Given the description of an element on the screen output the (x, y) to click on. 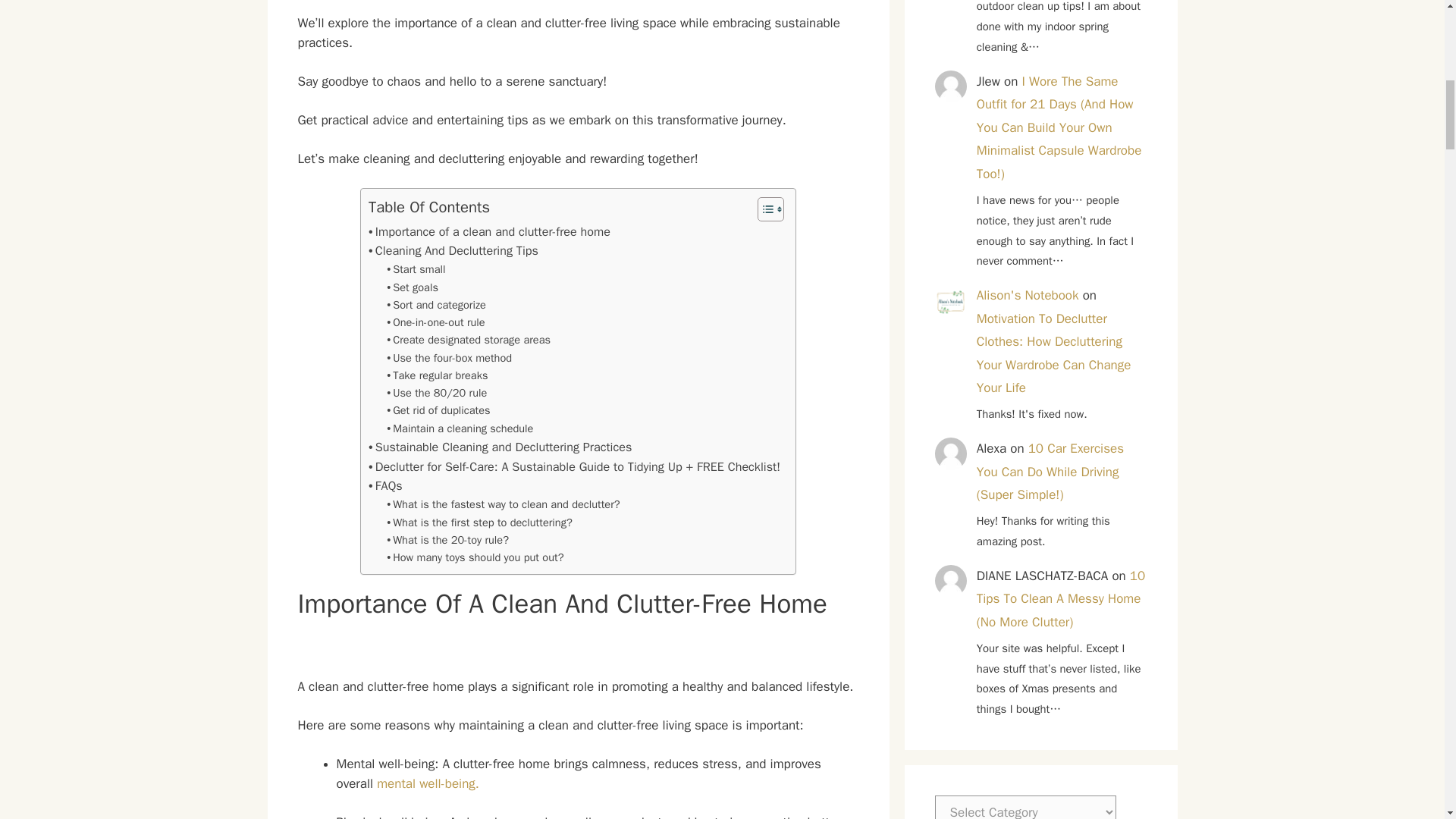
Start small (416, 269)
Get rid of duplicates (438, 410)
Use the four-box method (449, 357)
Create designated storage areas (468, 339)
Take regular breaks (437, 375)
One-in-one-out rule (435, 322)
One-in-one-out rule (435, 322)
Use the four-box method (449, 357)
Importance of a clean and clutter-free home (489, 231)
Sort and categorize (436, 304)
Importance of a clean and clutter-free home (489, 231)
Maintain a cleaning schedule (459, 428)
Create designated storage areas (468, 339)
Set goals (412, 287)
Sort and categorize (436, 304)
